Given the description of an element on the screen output the (x, y) to click on. 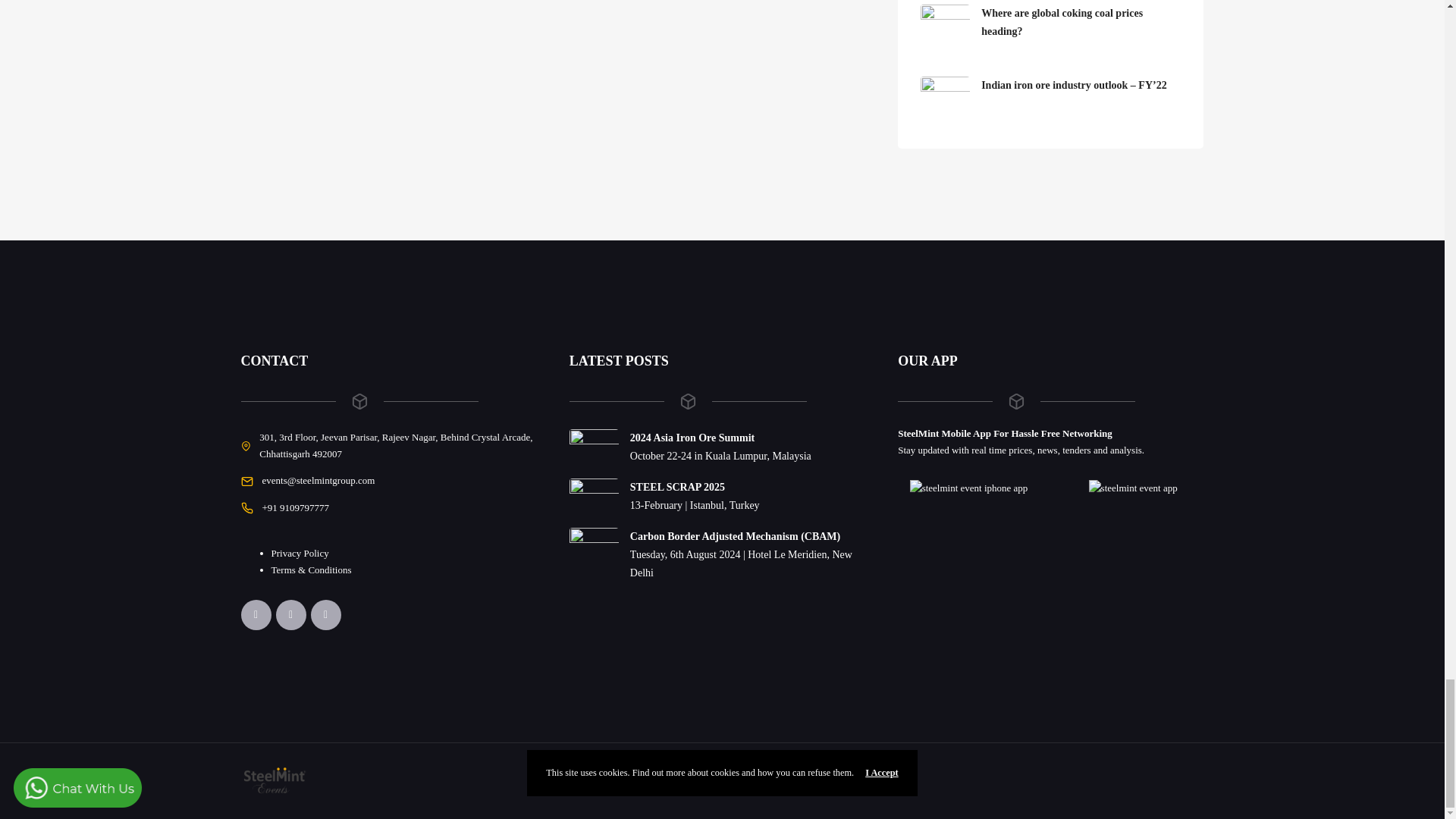
iphoneapp (968, 487)
windowsapp (1133, 487)
